Given the description of an element on the screen output the (x, y) to click on. 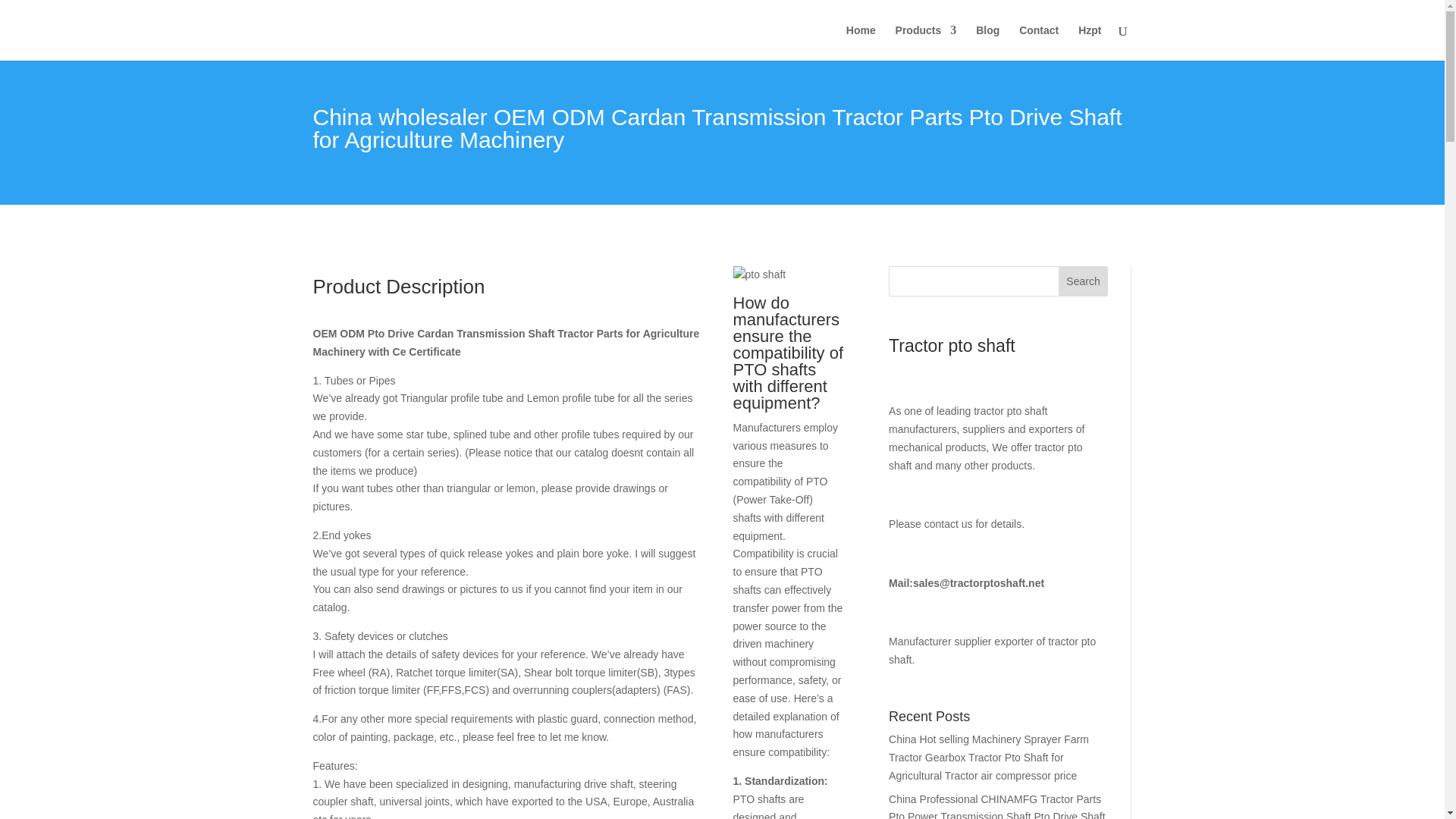
Contact (1038, 42)
Search (1083, 281)
Products (925, 42)
